Given the description of an element on the screen output the (x, y) to click on. 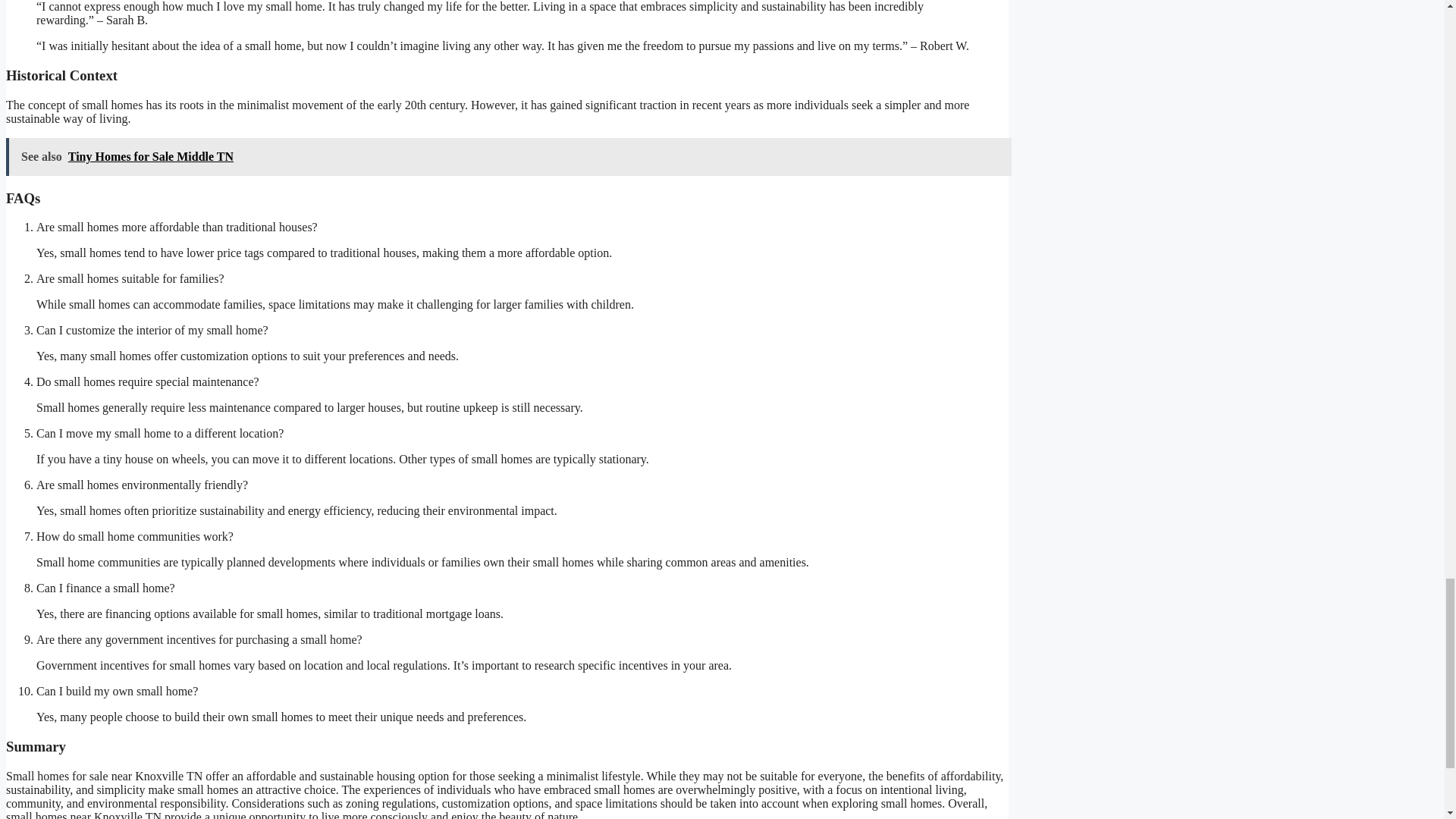
See also  Tiny Homes for Sale Middle TN (508, 157)
